Given the description of an element on the screen output the (x, y) to click on. 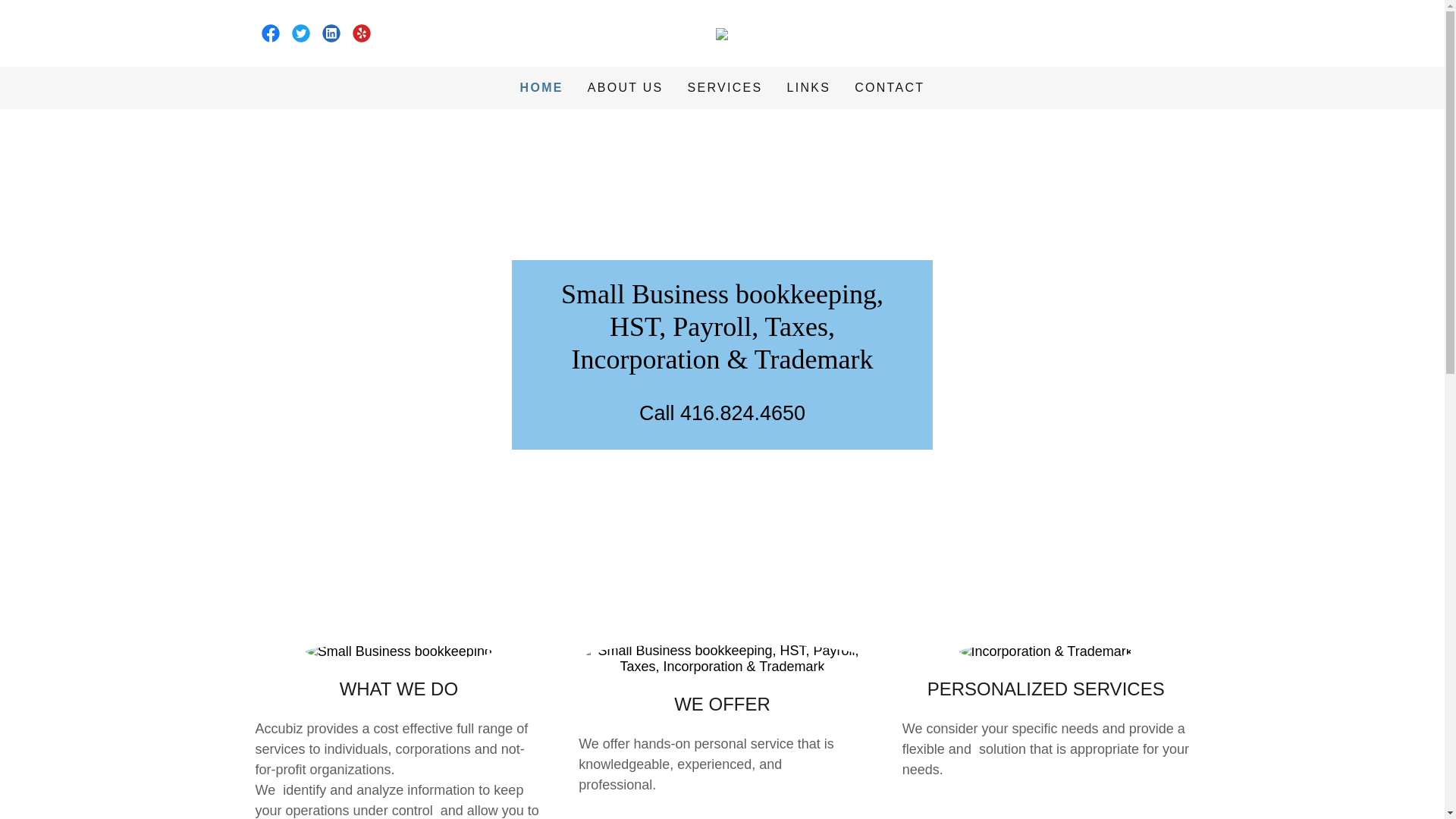
HOME Element type: text (541, 87)
CONTACT Element type: text (889, 87)
LINKS Element type: text (808, 87)
SERVICES Element type: text (725, 87)
ABOUT US Element type: text (625, 87)
